Given the description of an element on the screen output the (x, y) to click on. 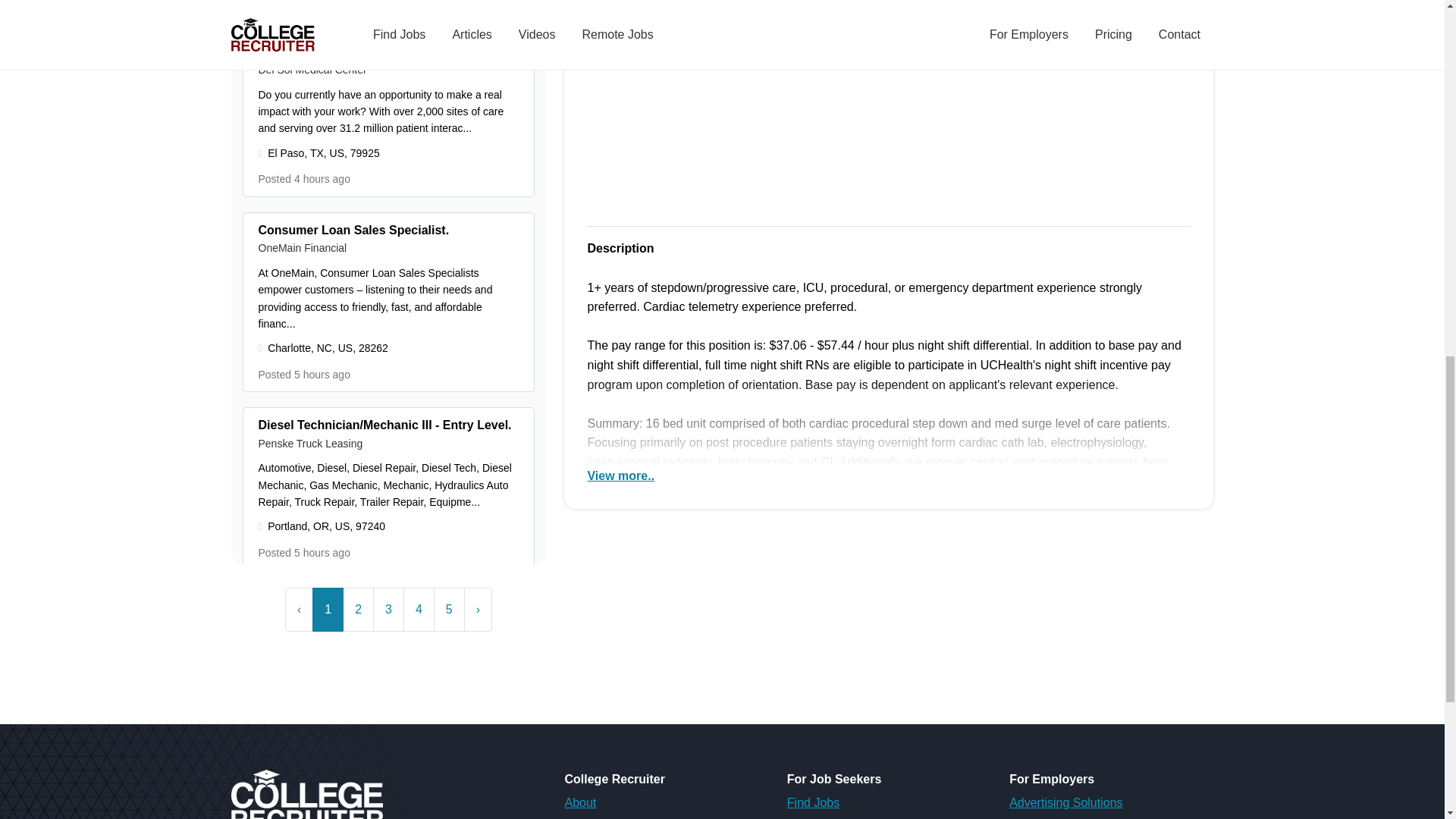
RN Short Stay - Video (888, 104)
